Given the description of an element on the screen output the (x, y) to click on. 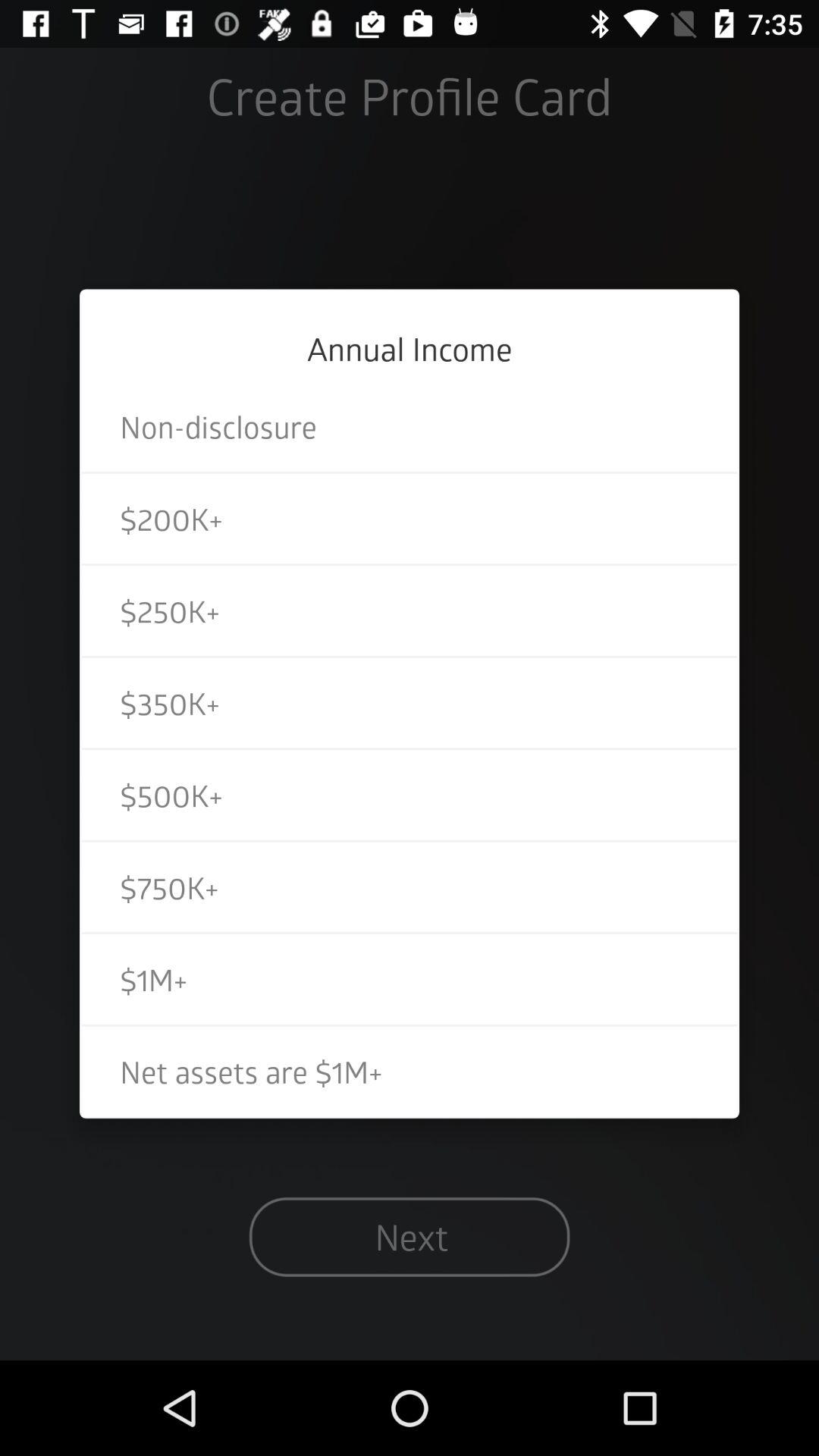
turn on icon above the $1m+ icon (409, 887)
